Given the description of an element on the screen output the (x, y) to click on. 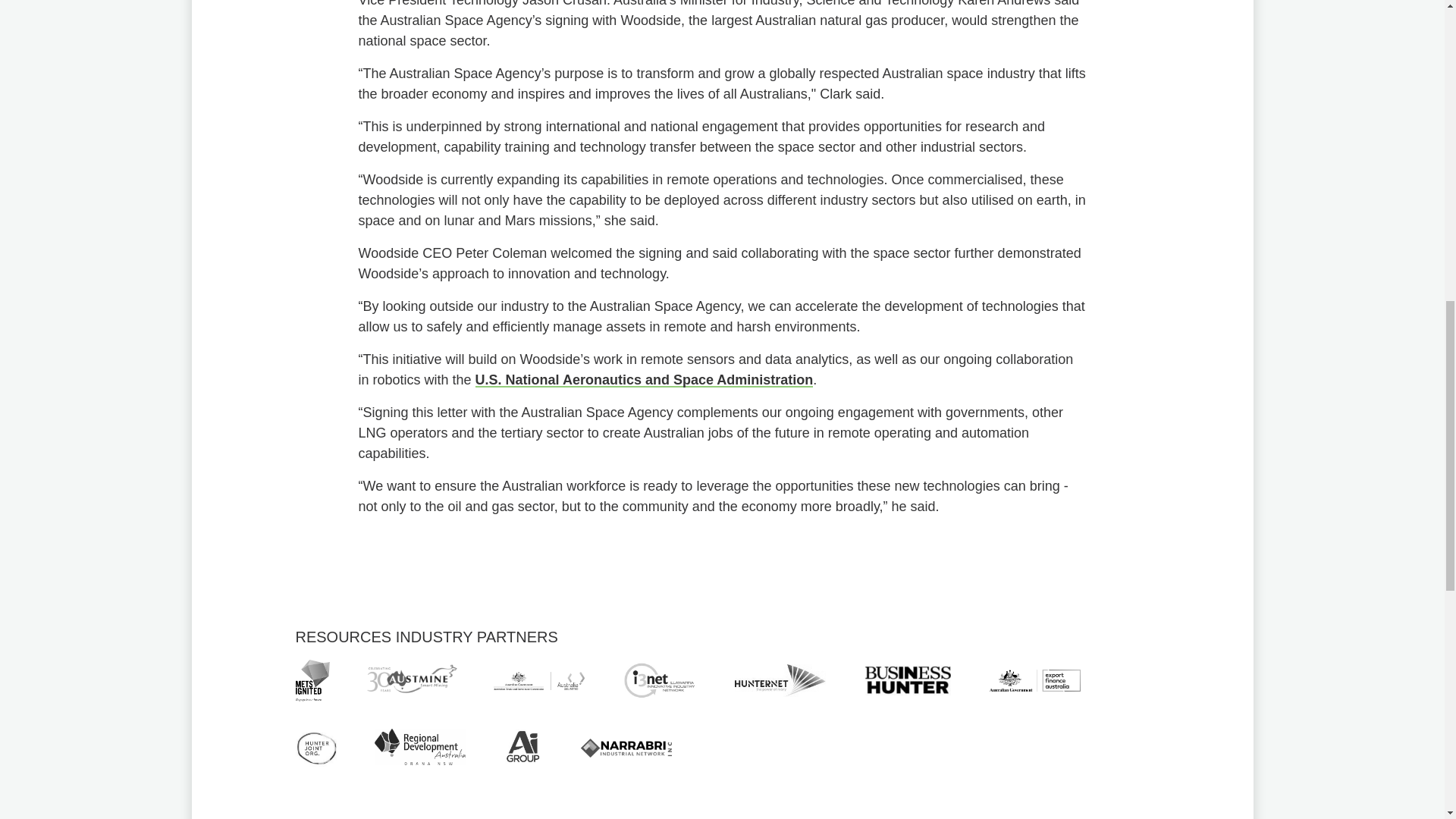
Export Finance Australia (1035, 680)
Business Hunter (907, 680)
RDA Orana (419, 746)
Hunter Joint Organisation (316, 746)
Austmine (411, 680)
U.S. National Aeronautics and Space Administration (644, 378)
Ai Group (523, 746)
i3net (659, 680)
Austrade (539, 680)
Narrabri Industrial Network (625, 747)
Hunternet (780, 680)
